Given the description of an element on the screen output the (x, y) to click on. 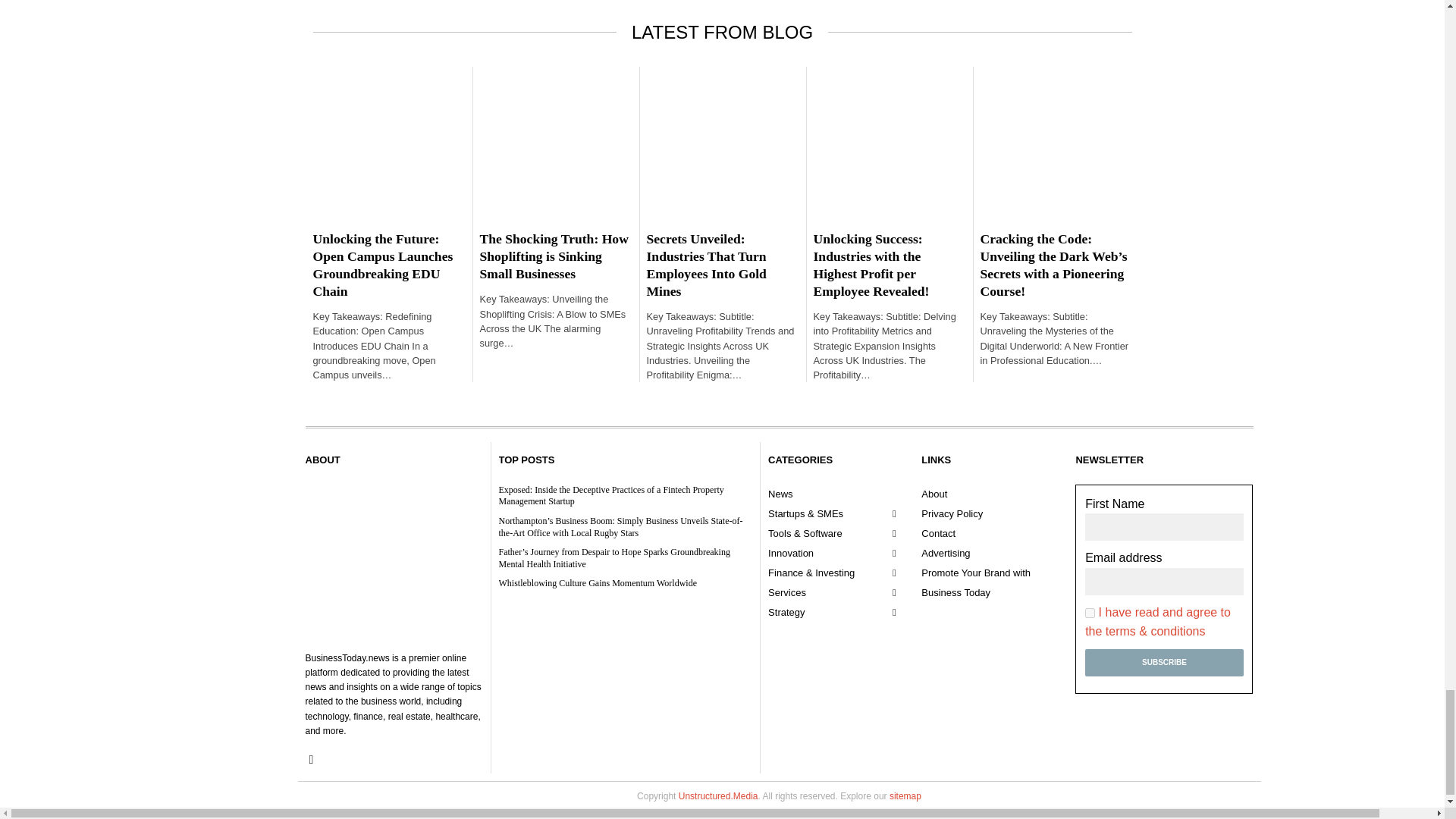
Subscribe (1163, 662)
1 (1089, 613)
